Given the description of an element on the screen output the (x, y) to click on. 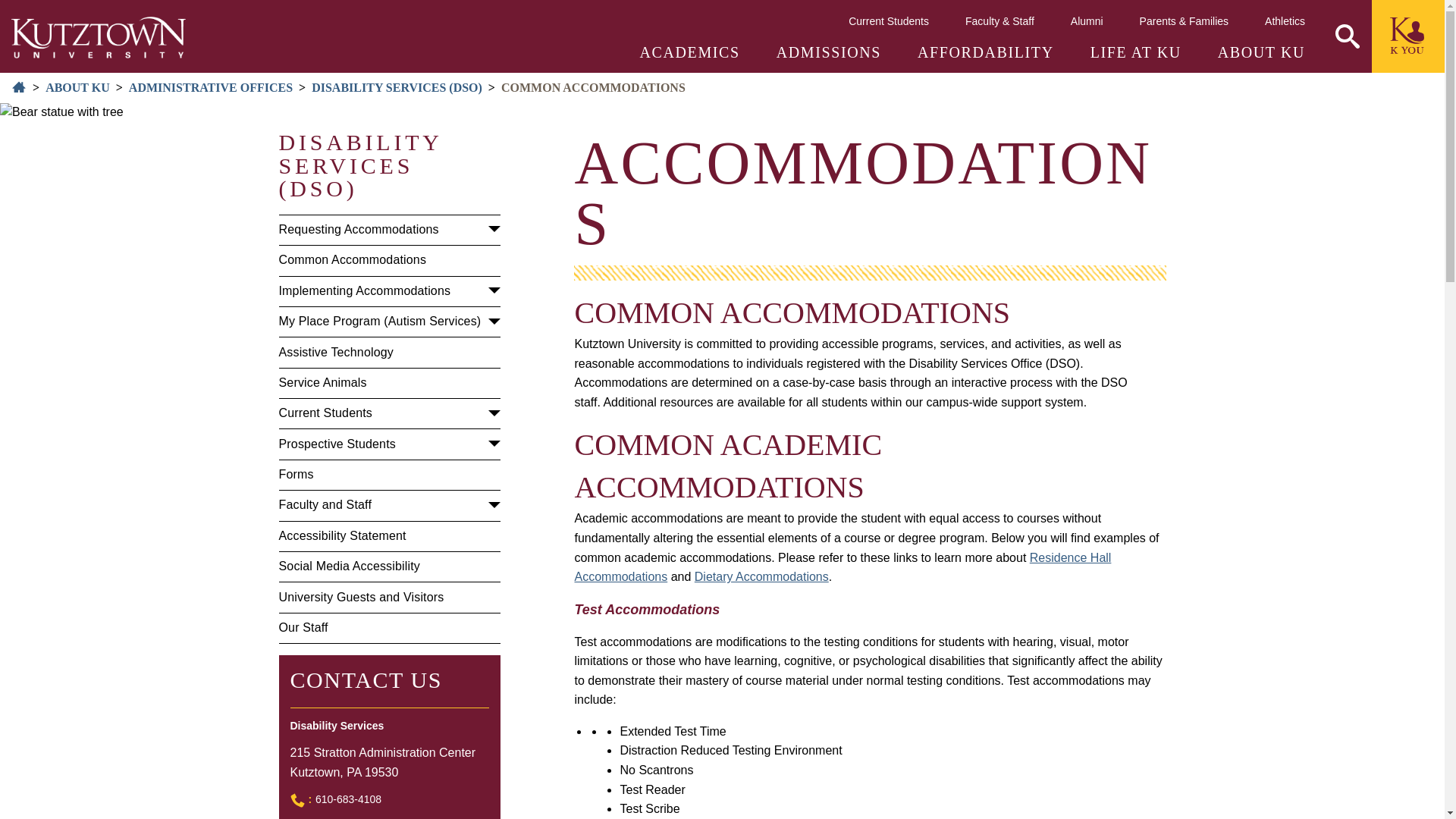
ADMISSIONS (828, 51)
Home (98, 37)
Alumni (1086, 20)
Current Students (888, 20)
Athletics (1284, 20)
ACADEMICS (689, 51)
Athletics (1284, 20)
ABOUT KU (1260, 51)
LIFE AT KU (1135, 51)
AFFORDABILITY (985, 51)
Current Students (888, 20)
Alumni (1086, 20)
